Given the description of an element on the screen output the (x, y) to click on. 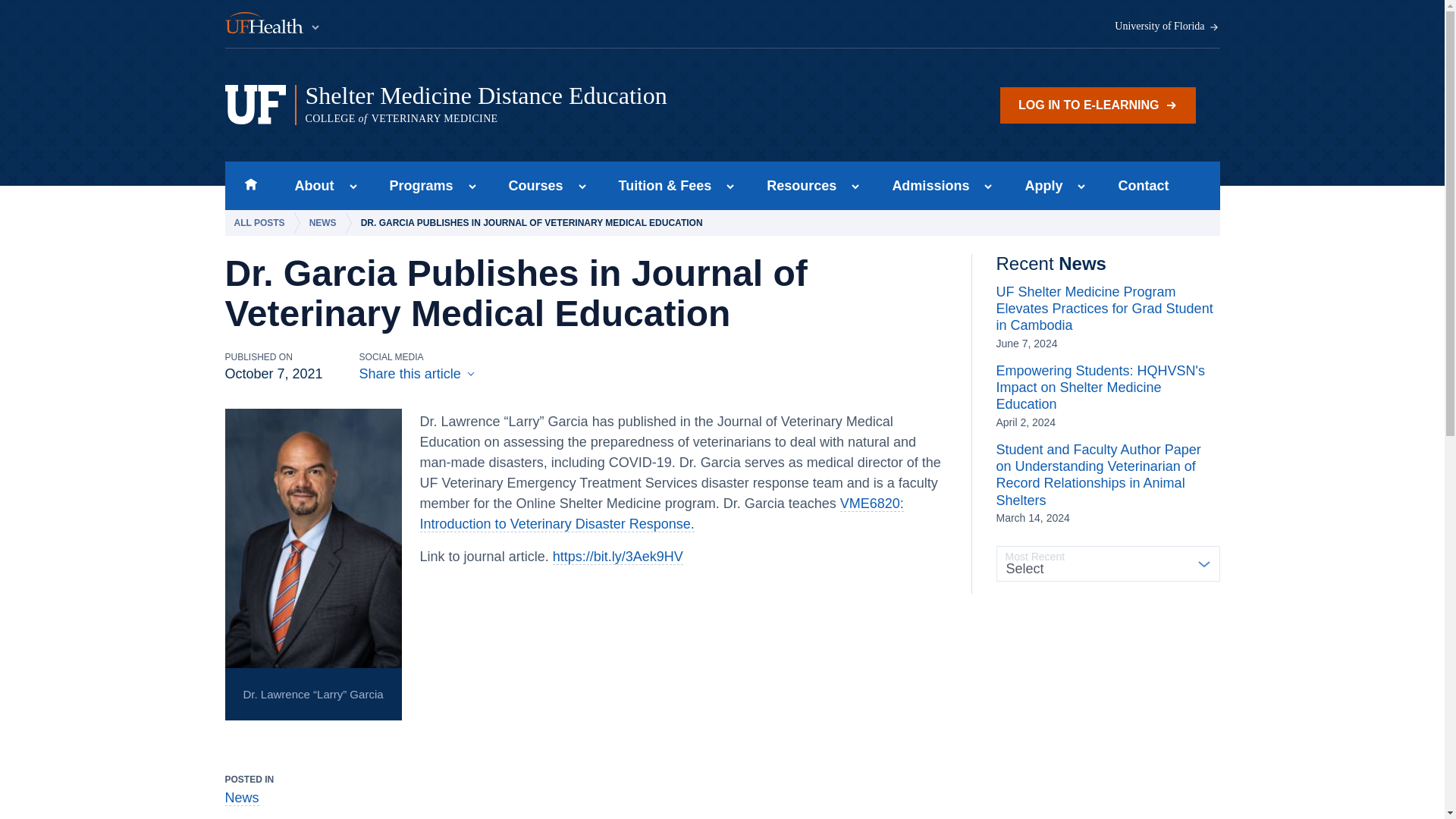
Programs (417, 185)
About (309, 185)
UF Health (272, 24)
LOG IN TO E-LEARNING (1097, 104)
Courses (531, 185)
Home (250, 185)
University of Florida (1167, 26)
Resources (796, 185)
